Given the description of an element on the screen output the (x, y) to click on. 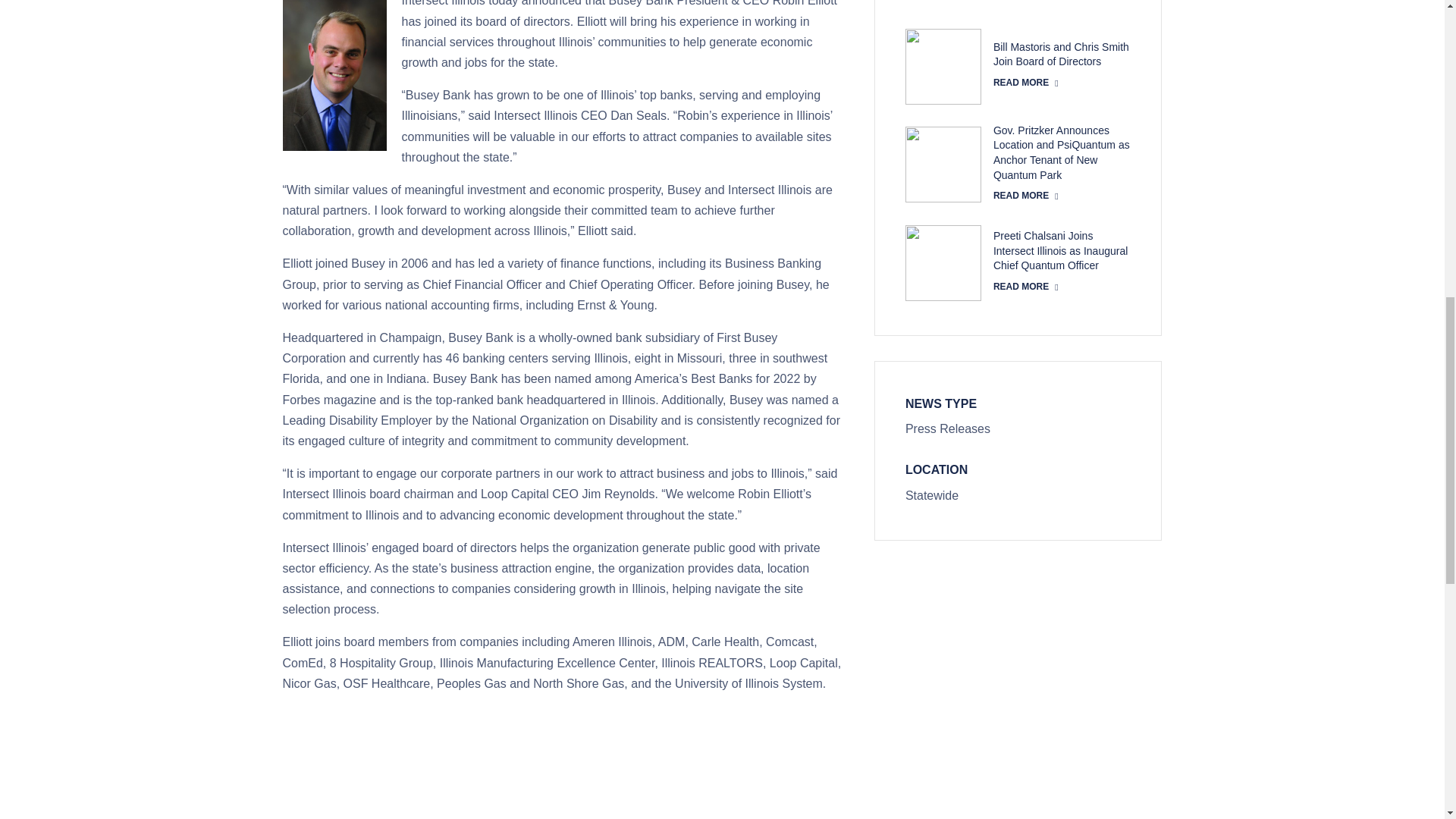
Bill Mastoris and Chris Smith Join Board of Directors (1060, 53)
Bill Mastoris and Chris Smith Join Board of Directors (1025, 82)
